Given the description of an element on the screen output the (x, y) to click on. 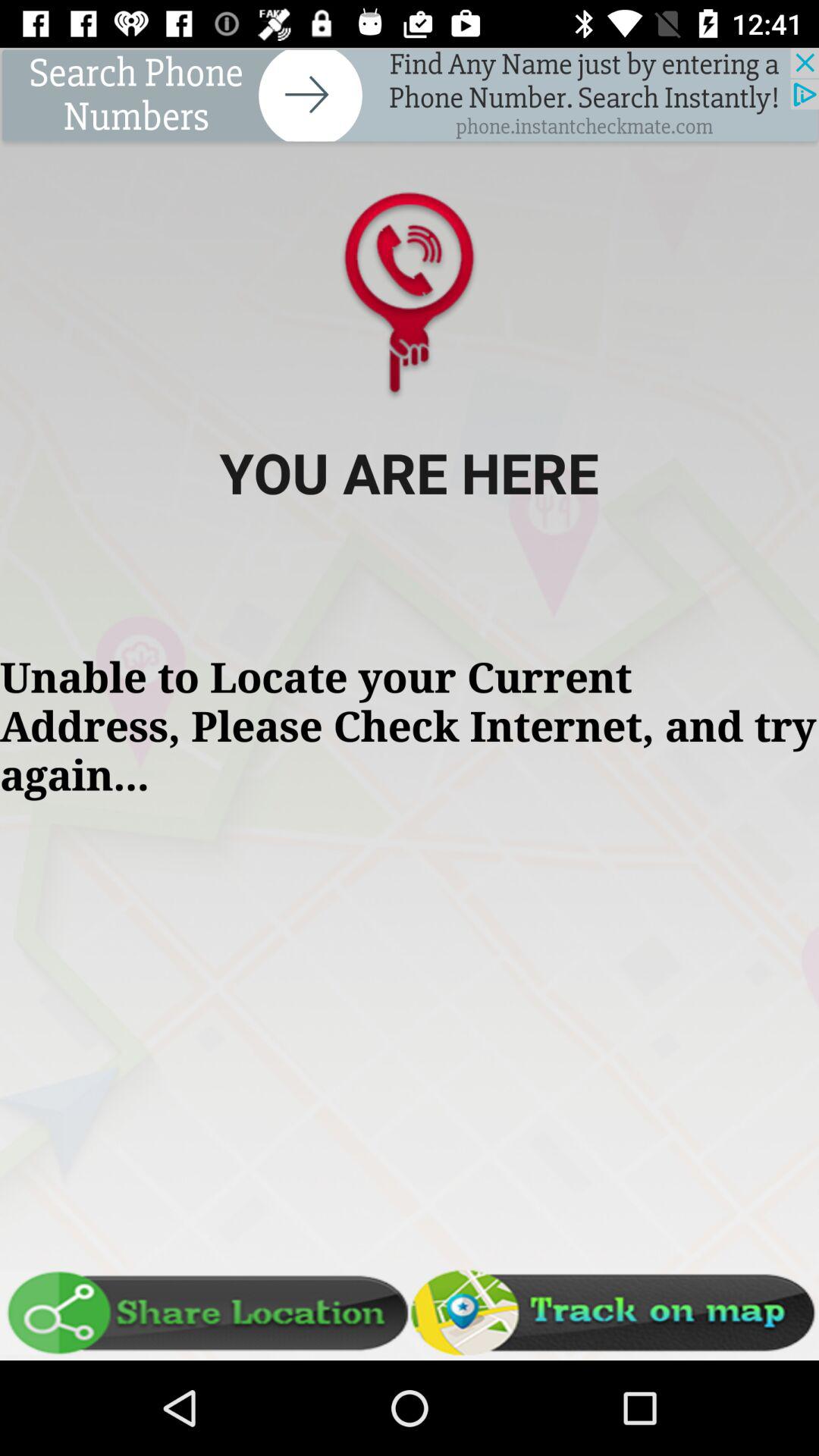
share (204, 1312)
